Given the description of an element on the screen output the (x, y) to click on. 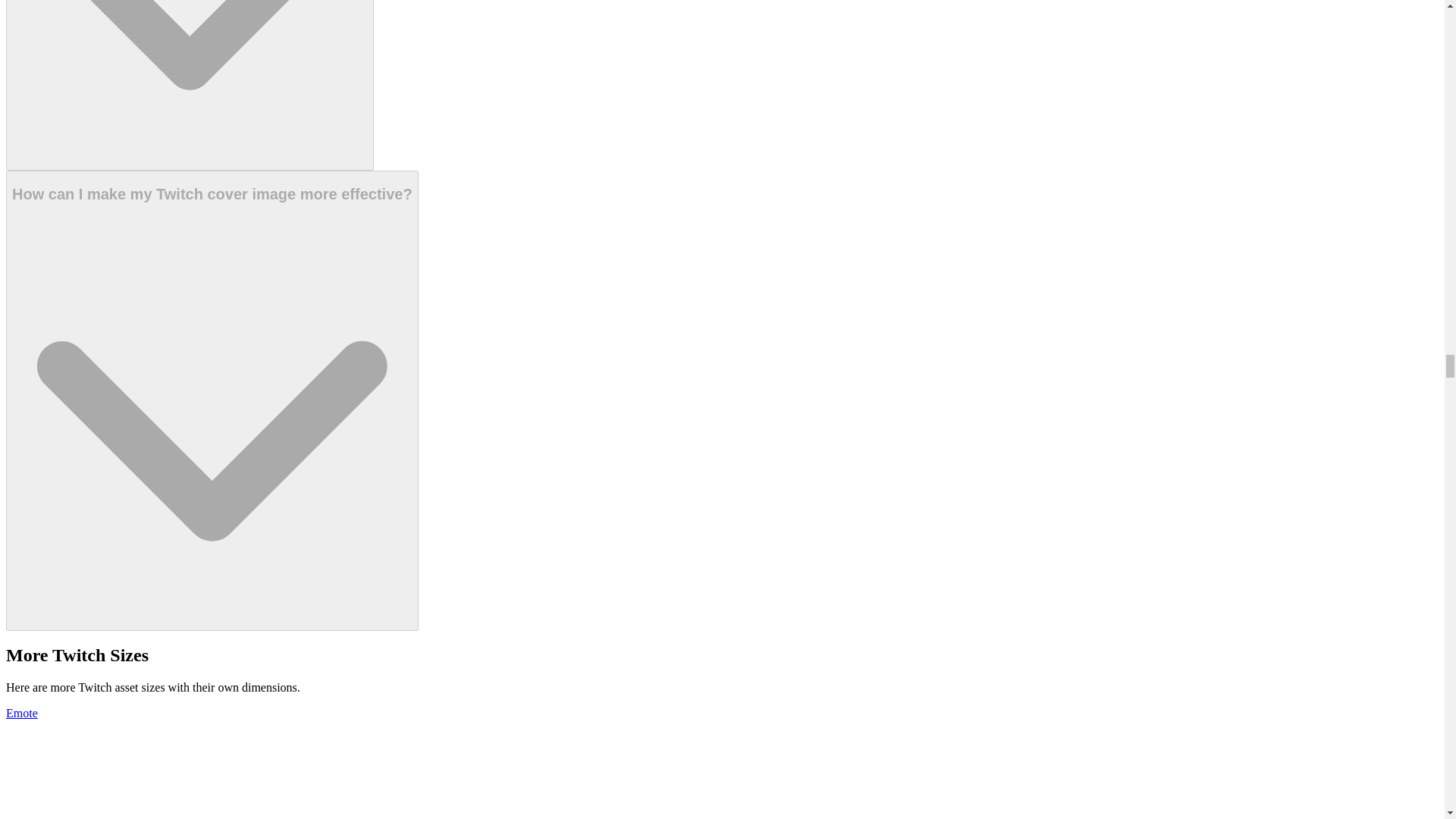
How do I change my cover image size on Twitch? (189, 85)
